Given the description of an element on the screen output the (x, y) to click on. 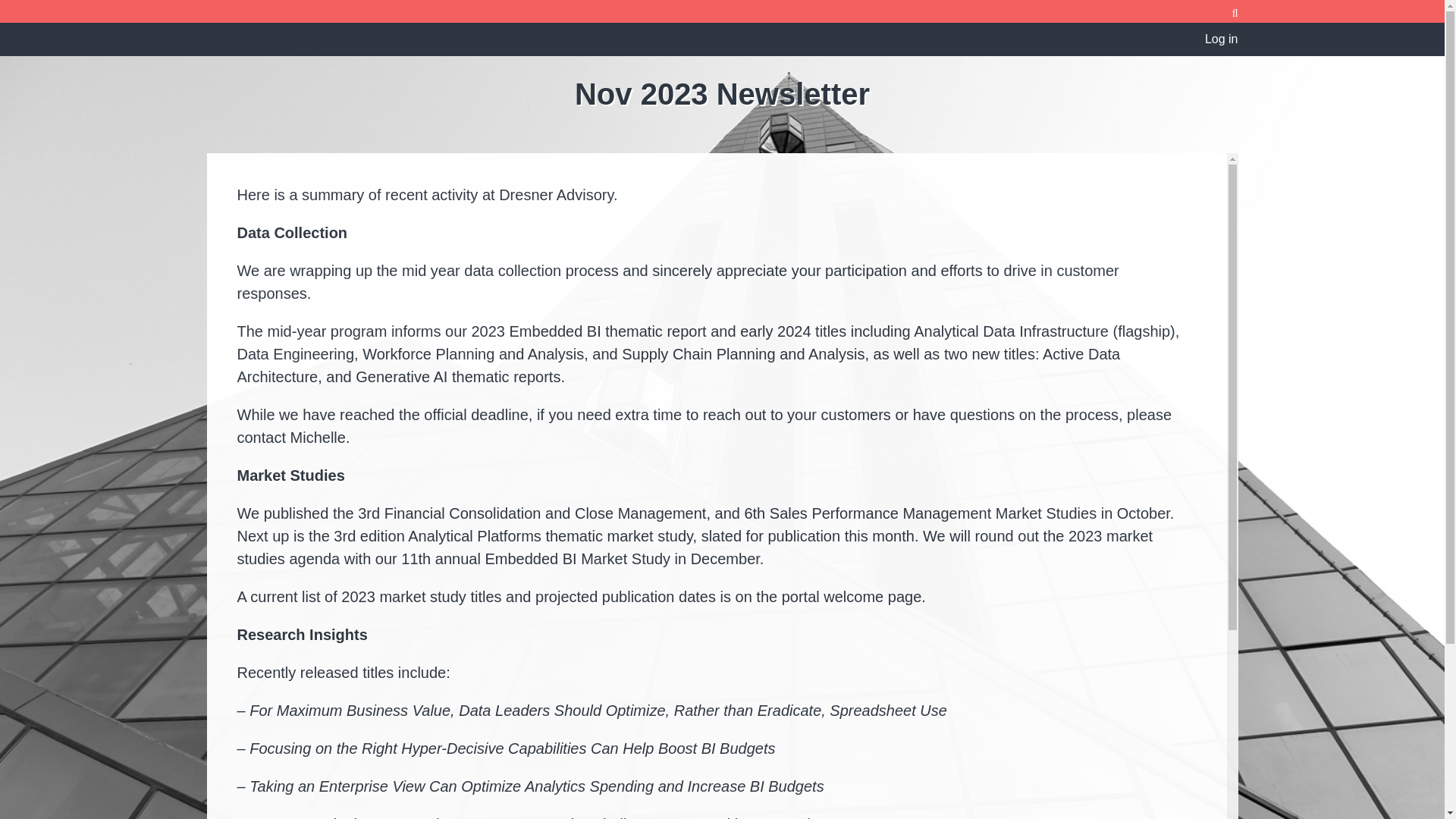
Dresner Advisory Services (365, 59)
Log in (1222, 39)
